Given the description of an element on the screen output the (x, y) to click on. 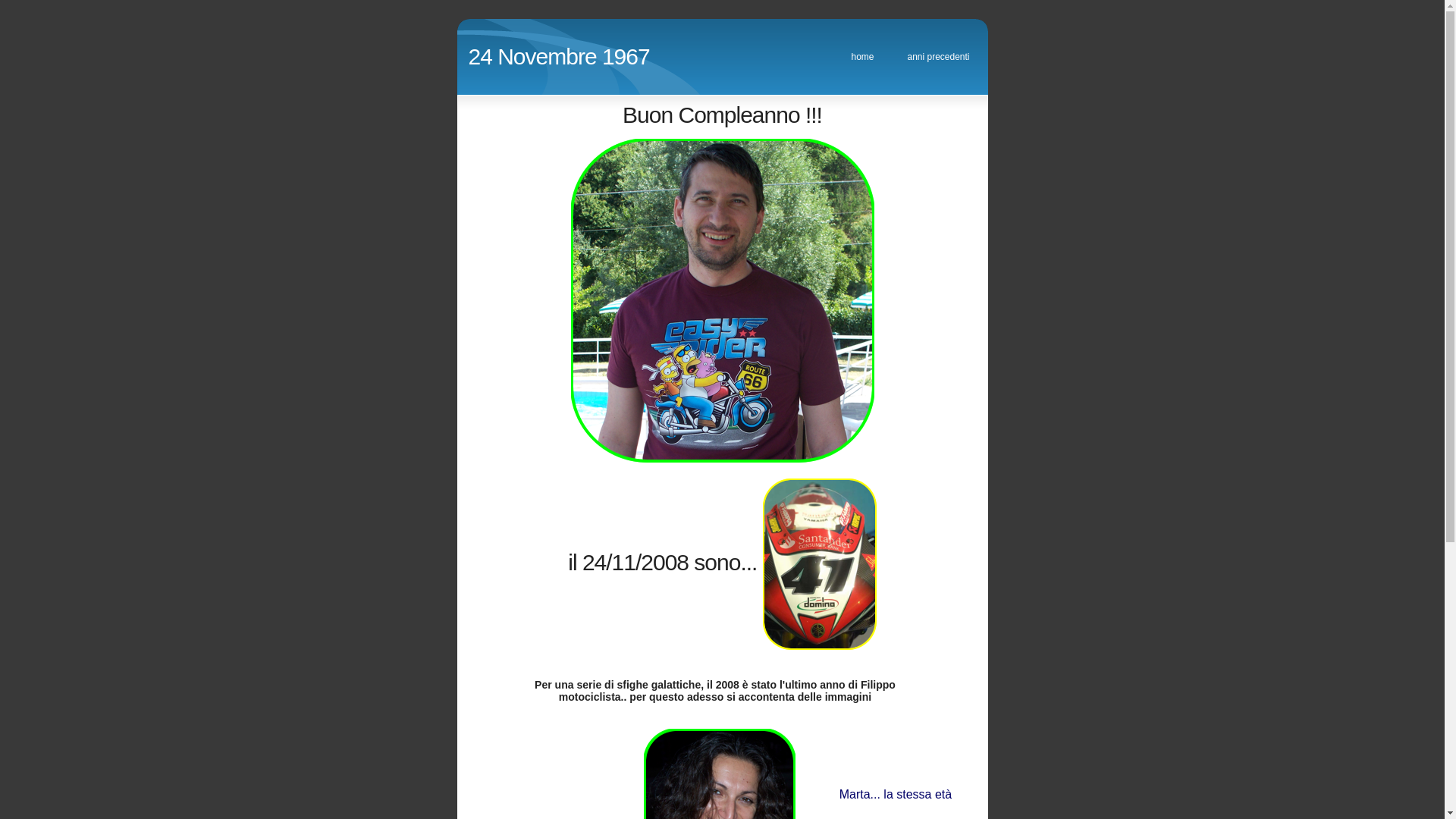
anni precedenti Element type: text (938, 56)
home Element type: text (862, 56)
24 Novembre 1967 Element type: text (558, 56)
